Given the description of an element on the screen output the (x, y) to click on. 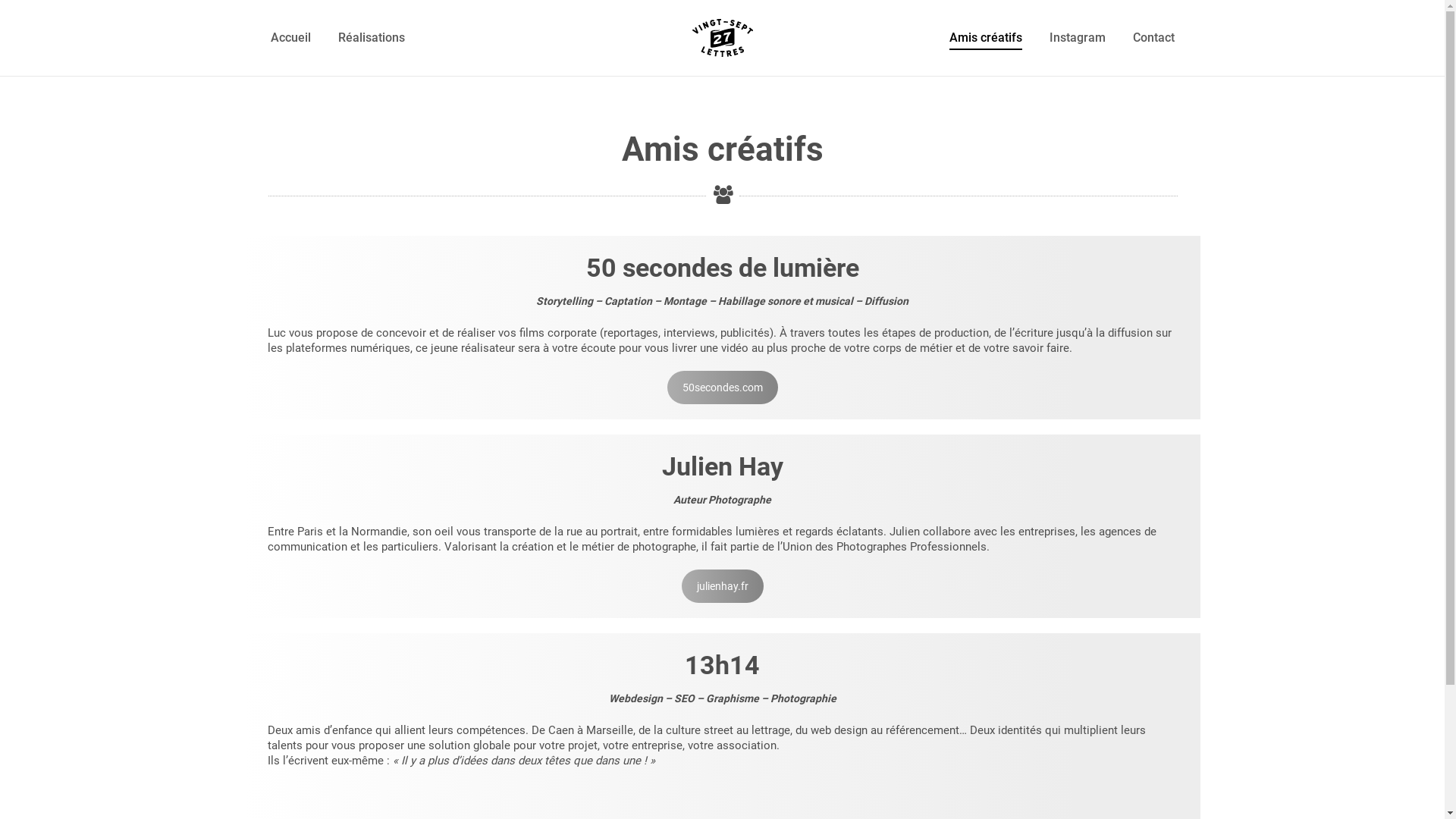
julienhay.fr Element type: text (721, 585)
Contact Element type: text (1153, 37)
Accueil Element type: text (289, 37)
50secondes.com Element type: text (722, 387)
Instagram Element type: text (1077, 37)
